Given the description of an element on the screen output the (x, y) to click on. 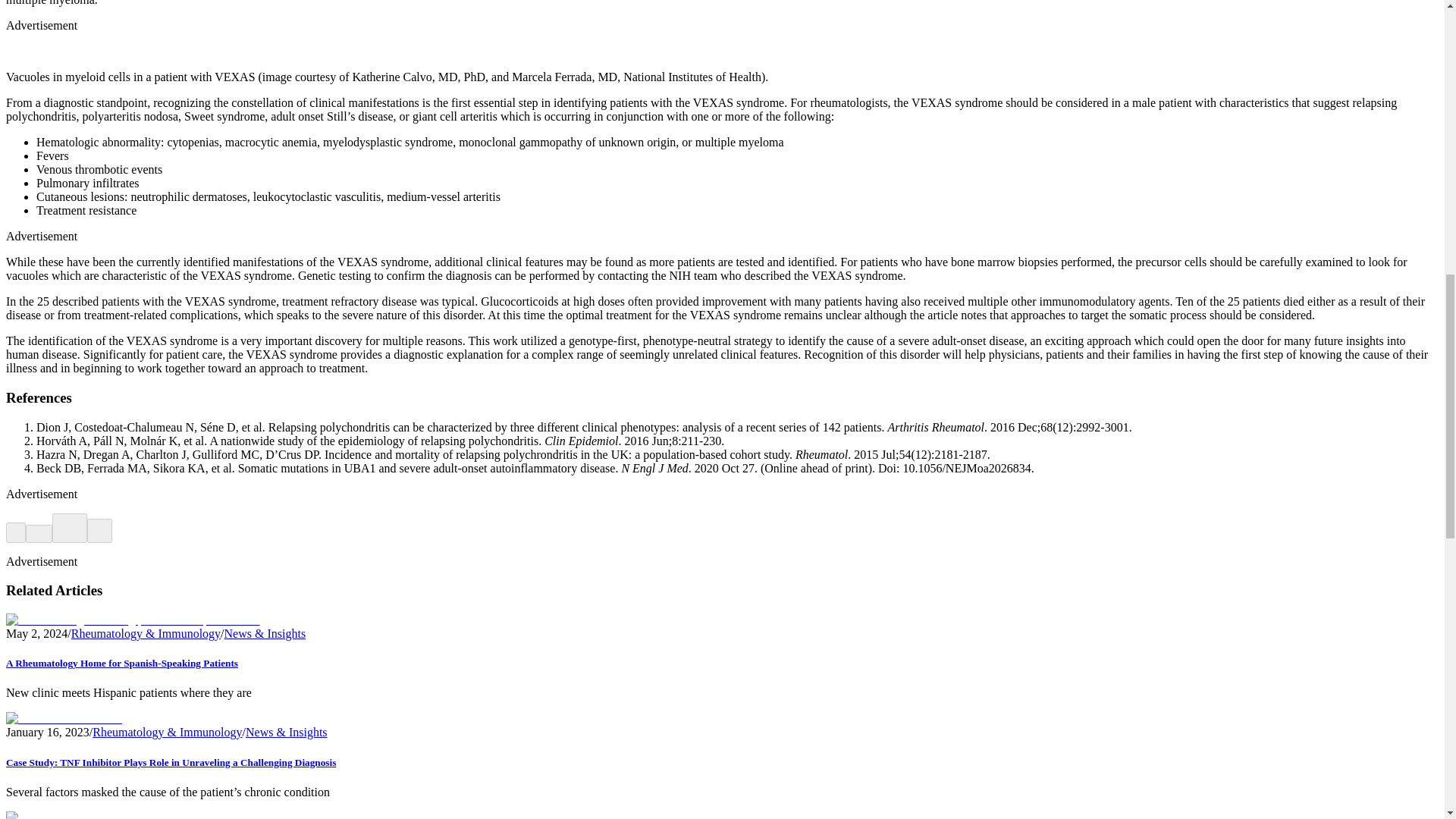
A Rheumatology Home for Spanish-Speaking Patients (121, 663)
